Given the description of an element on the screen output the (x, y) to click on. 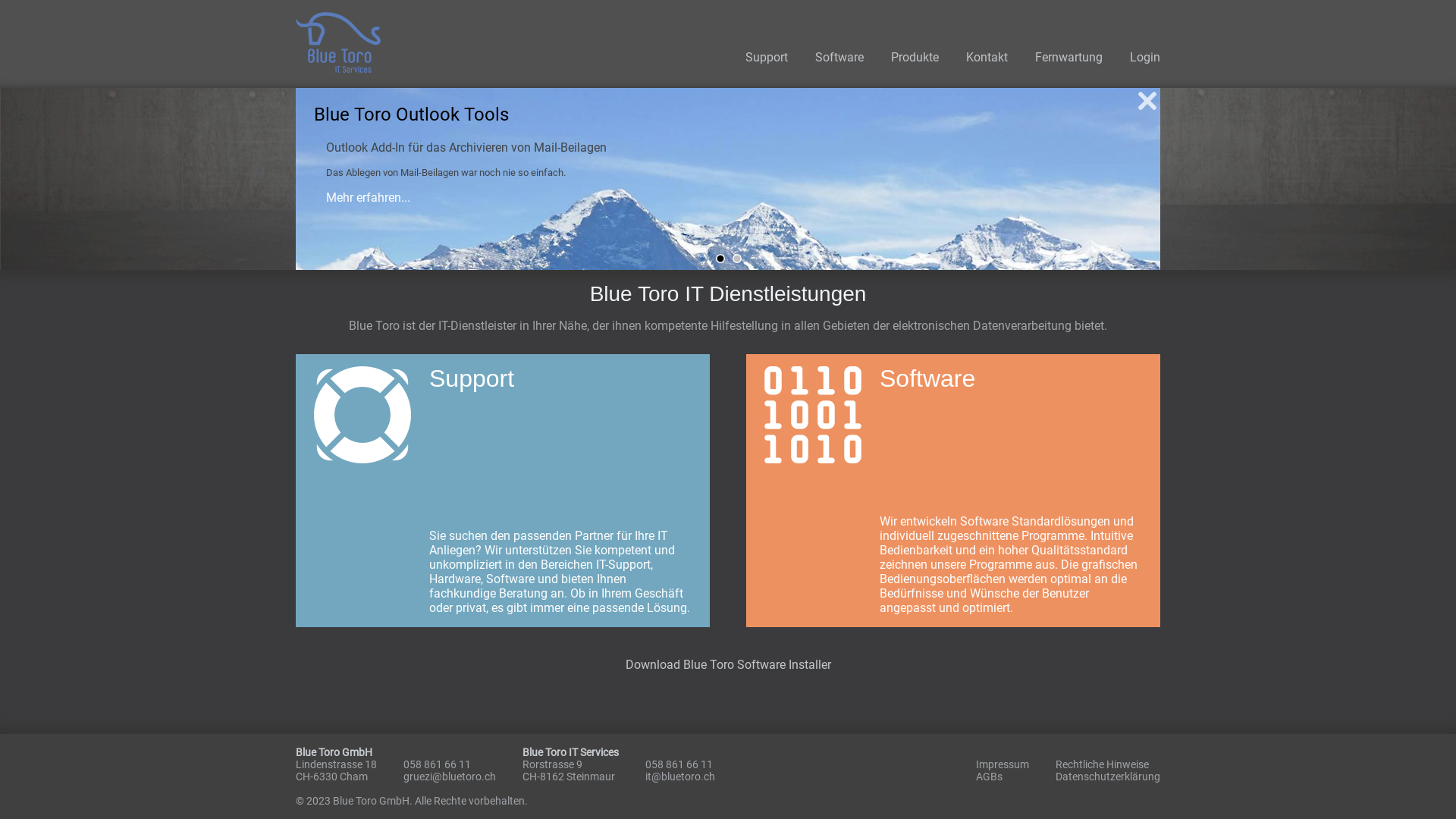
Kontakt Element type: text (986, 57)
gruezi@bluetoro.ch Element type: text (449, 776)
AGBs Element type: text (988, 776)
Blue Toro Outlook Tools Element type: hover (736, 258)
Blue Toro QR-Invoice Element type: hover (719, 258)
Software Element type: text (839, 57)
Produkte Element type: text (914, 57)
Impressum Element type: text (1002, 764)
058 861 66 11 Element type: text (436, 764)
Download Blue Toro Software Installer Element type: text (727, 664)
058 861 66 11 Element type: text (678, 764)
Support Element type: text (766, 57)
it@bluetoro.ch Element type: text (680, 776)
Rechtliche Hinweise Element type: text (1101, 764)
Login Element type: text (1144, 57)
Fernwartung Element type: text (1068, 57)
